Given the description of an element on the screen output the (x, y) to click on. 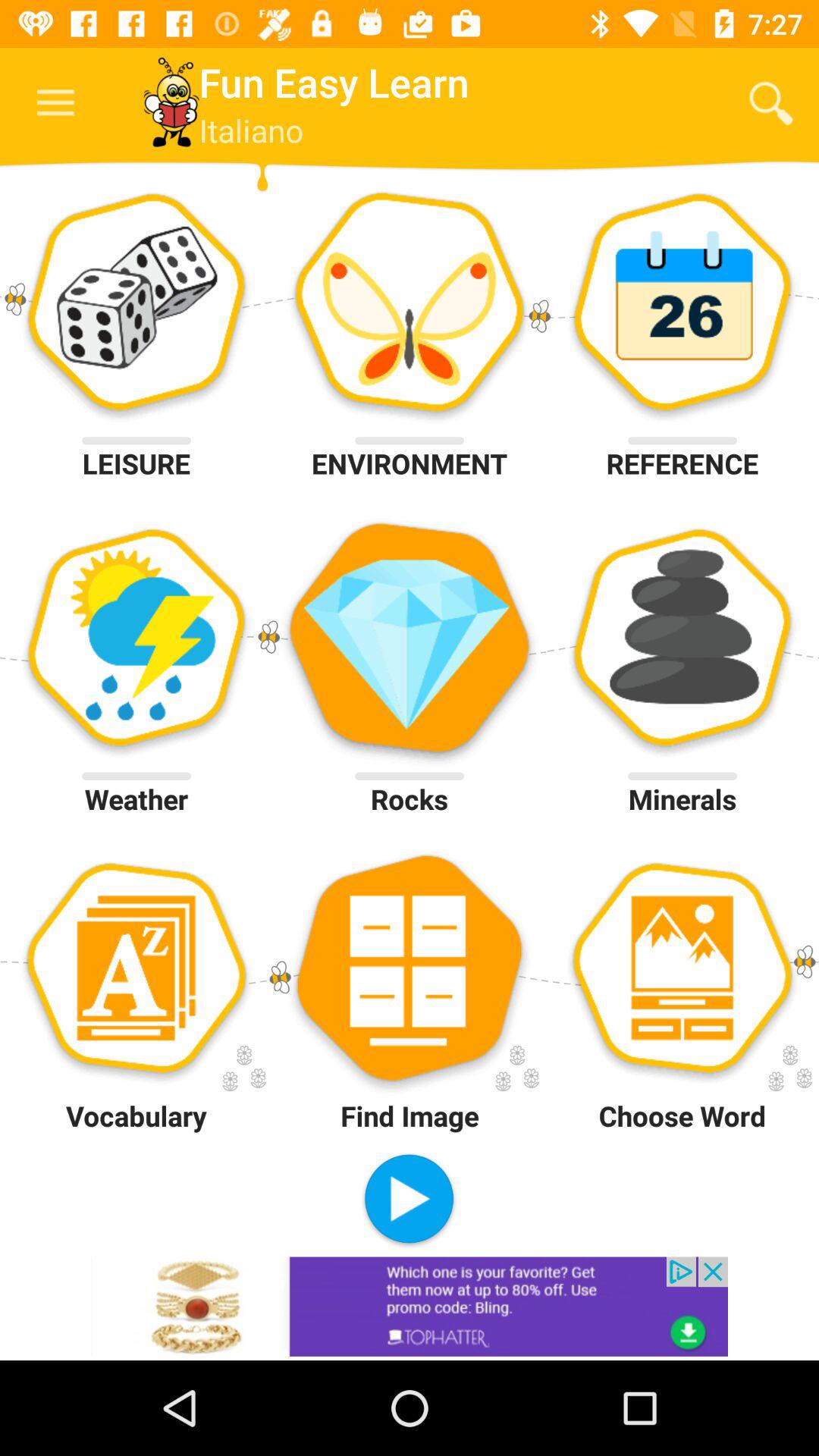
open advertisement page (409, 1306)
